Given the description of an element on the screen output the (x, y) to click on. 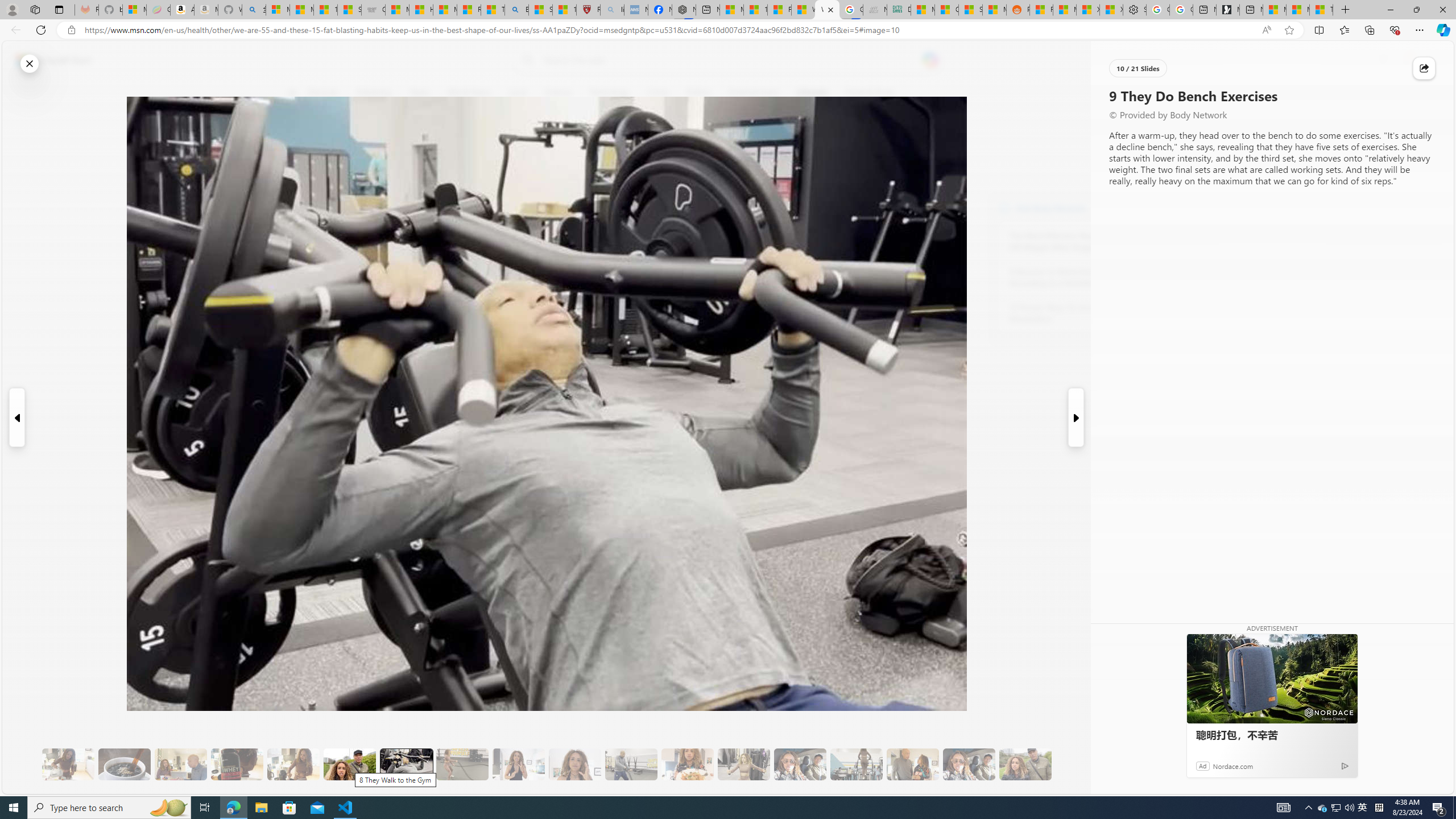
Skip to content (49, 59)
Web search (526, 60)
Class: at-item (299, 266)
Follow (518, 146)
19 It Also Simplifies Thiings (968, 764)
3 They Drink Lemon Tea (68, 764)
Local (517, 92)
20 Overall, It Will Improve Your Health (1024, 764)
